Given the description of an element on the screen output the (x, y) to click on. 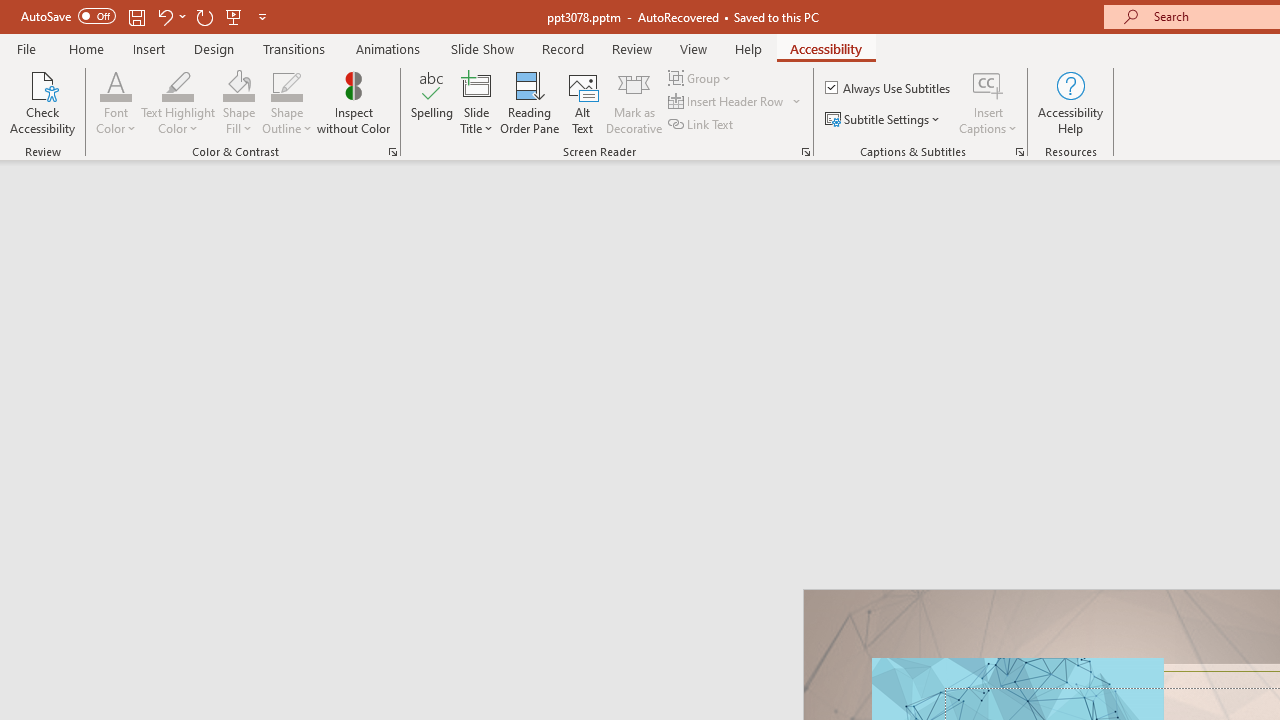
Screen Reader (805, 151)
Insert Header Row (727, 101)
Insert Captions (988, 84)
Insert Header Row (735, 101)
Link Text (702, 124)
Mark as Decorative (634, 102)
